Given the description of an element on the screen output the (x, y) to click on. 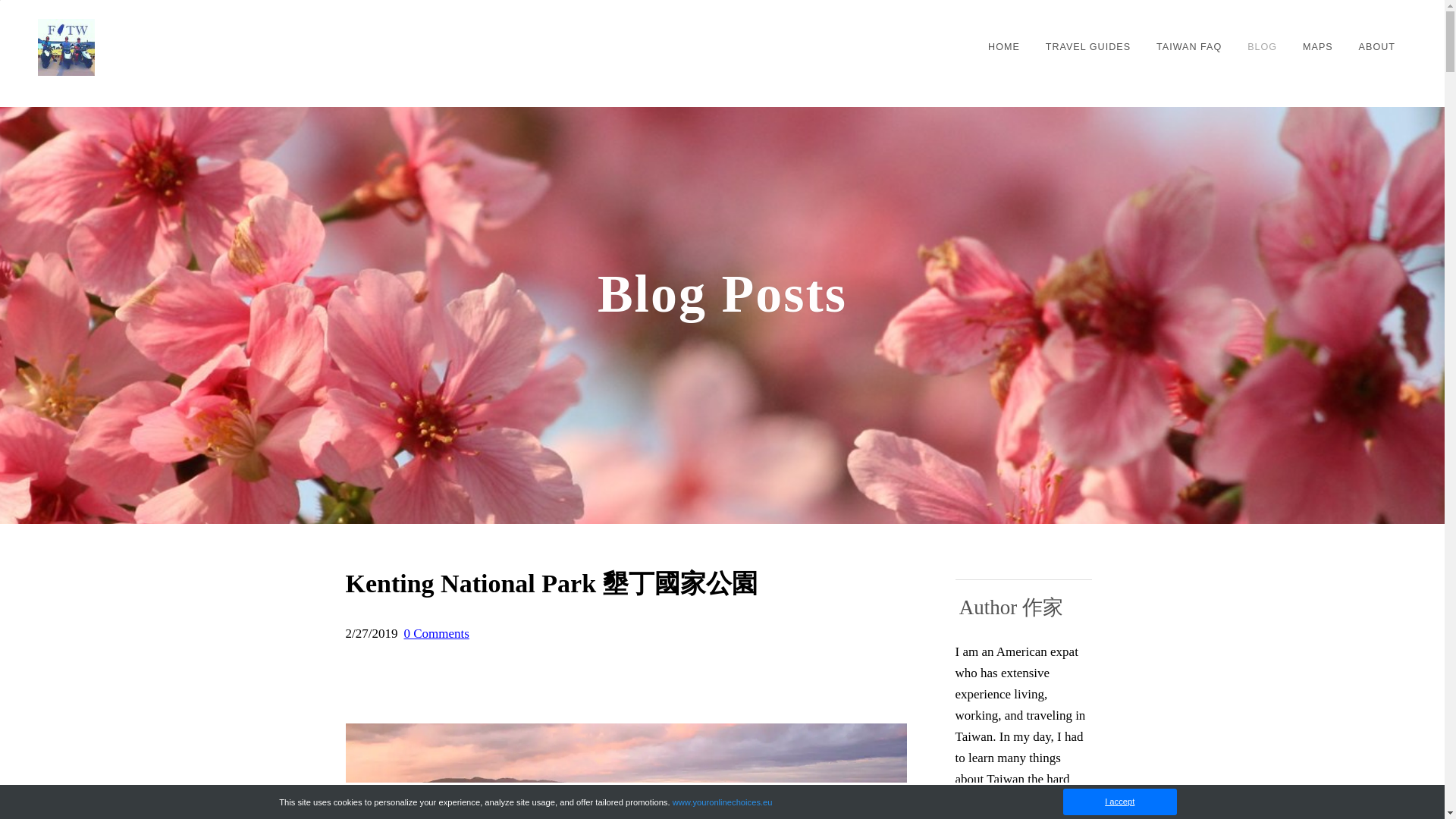
MAPS (1317, 47)
HOME (1003, 47)
ABOUT (1377, 47)
TRAVEL GUIDES (1087, 47)
TAIWAN FAQ (1188, 47)
BLOG (1262, 47)
